Given the description of an element on the screen output the (x, y) to click on. 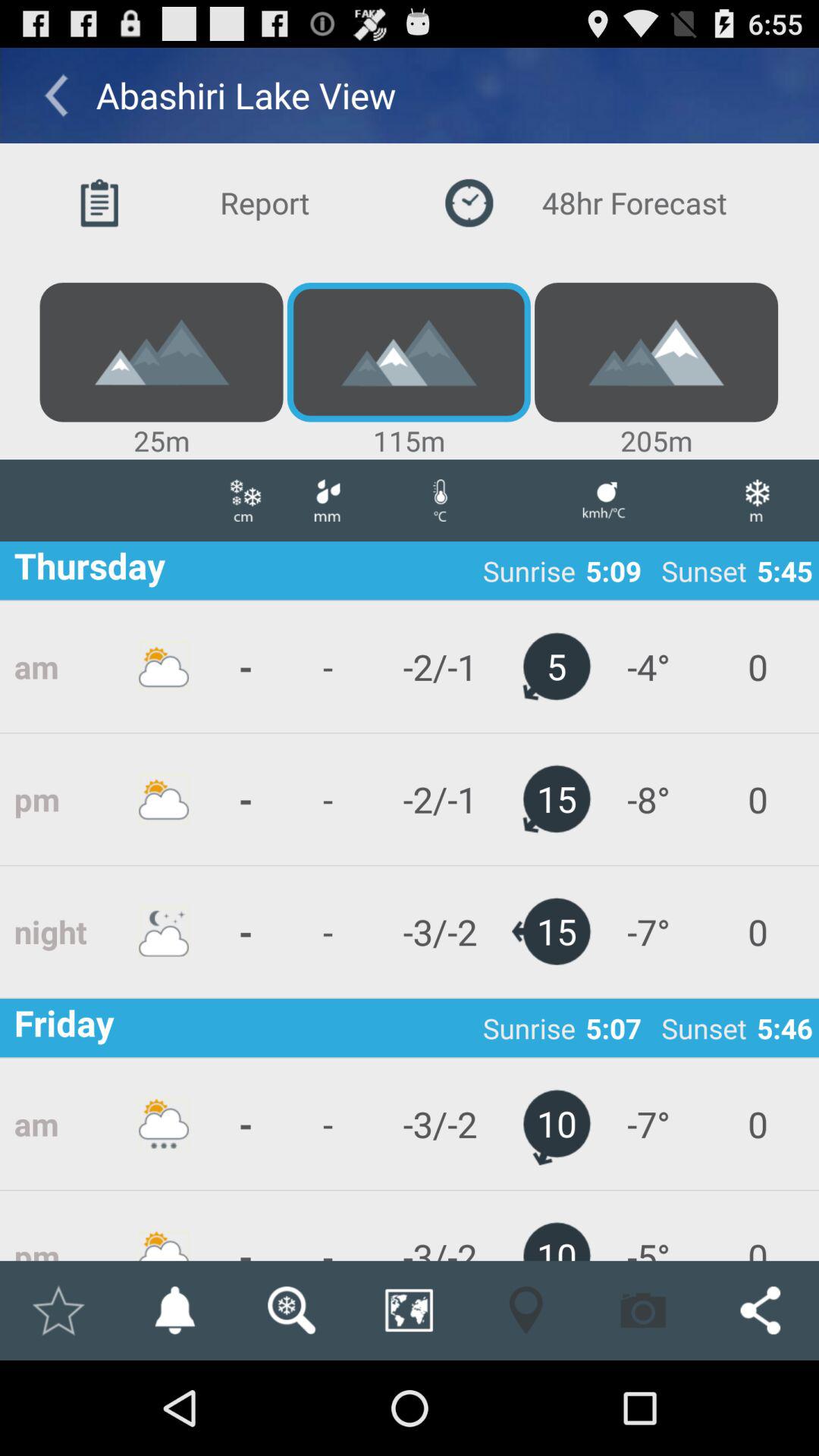
tap report button (224, 202)
